Given the description of an element on the screen output the (x, y) to click on. 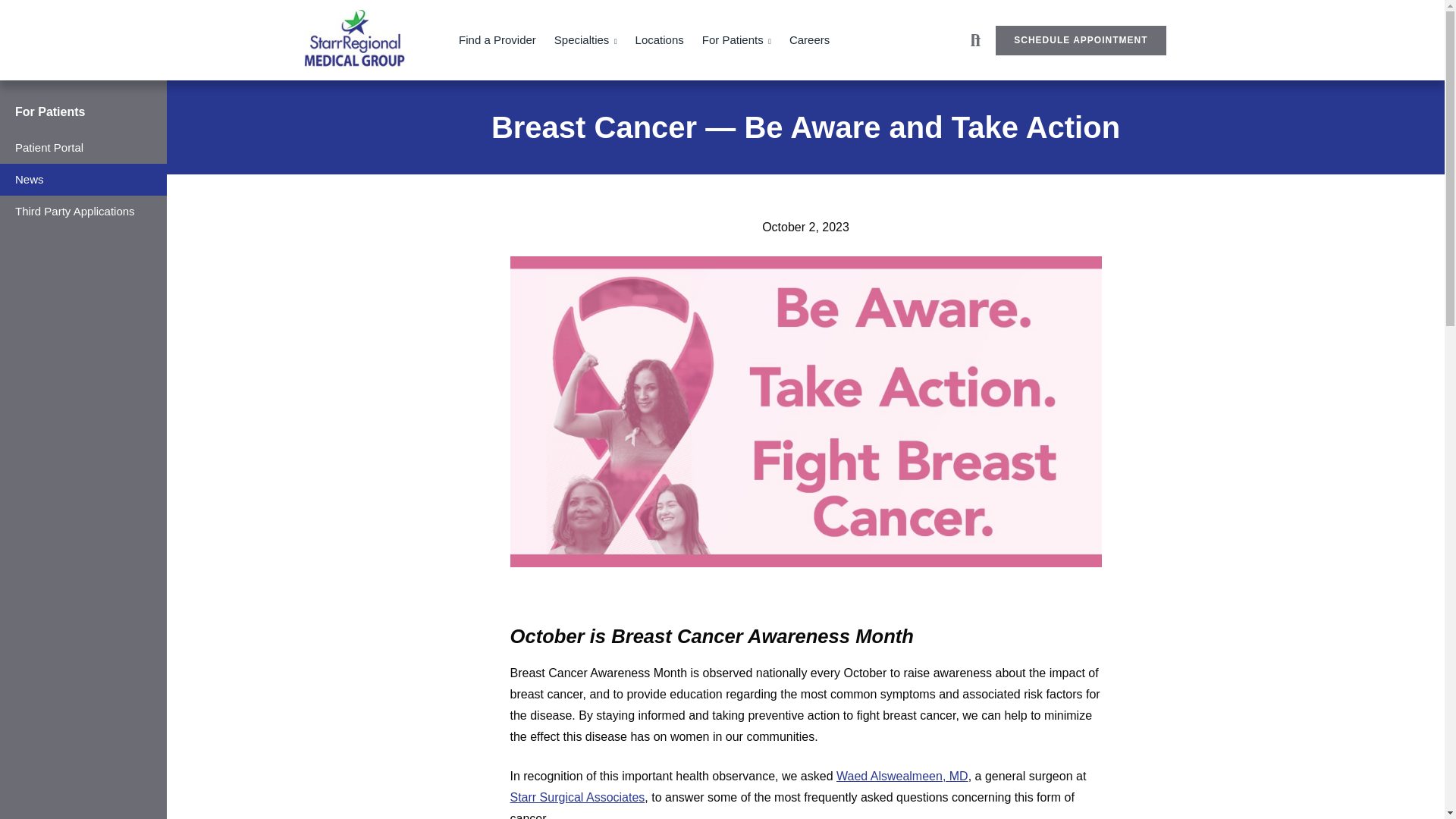
Find a Provider (496, 40)
SCHEDULE APPOINTMENT (1080, 40)
Locations (659, 40)
News (82, 179)
Specialties (585, 40)
Third Party Applications (82, 211)
Starr Surgical Associates (577, 797)
Careers (809, 40)
For Patients (736, 40)
Patient Portal (82, 147)
For Patients (49, 111)
Waed Alswealmeen, MD (901, 775)
